Given the description of an element on the screen output the (x, y) to click on. 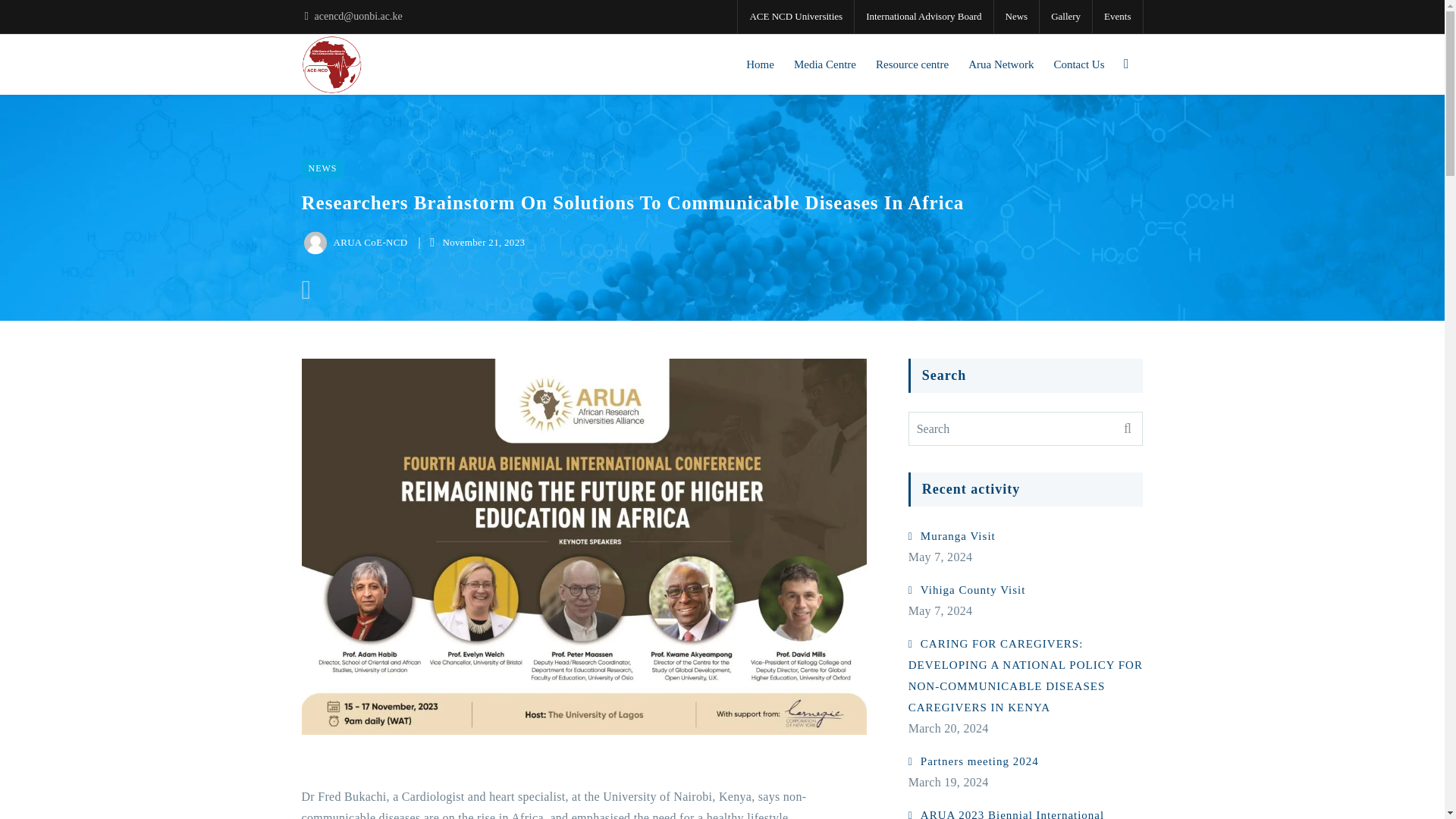
Contact Us (1078, 64)
on (897, 680)
ACE NCD Universities (795, 16)
Arua Network (1000, 64)
International Advisory Board (923, 16)
Resource centre (912, 64)
Gallery (1065, 16)
Subscribe to our newsletter (1098, 635)
Media Centre (825, 64)
News (1016, 16)
